Given the description of an element on the screen output the (x, y) to click on. 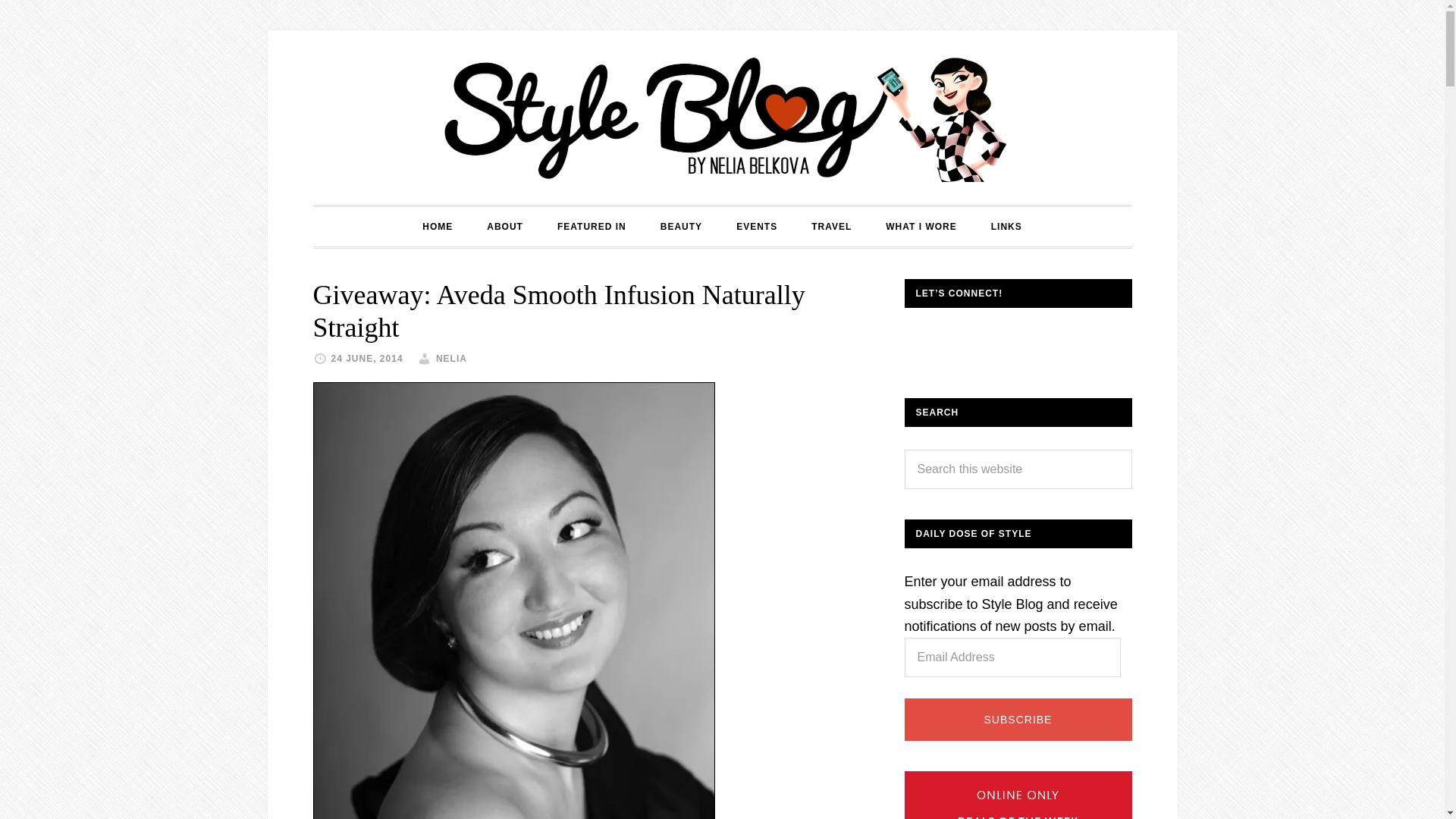
LINKS (1005, 226)
ABOUT (504, 226)
HOME (437, 226)
TRAVEL (831, 226)
SUBSCRIBE (1017, 719)
Giveaway: Aveda Smooth Infusion Naturally Straight (559, 311)
NELIA (451, 357)
WHAT I WORE (920, 226)
FEATURED IN (591, 226)
